Given the description of an element on the screen output the (x, y) to click on. 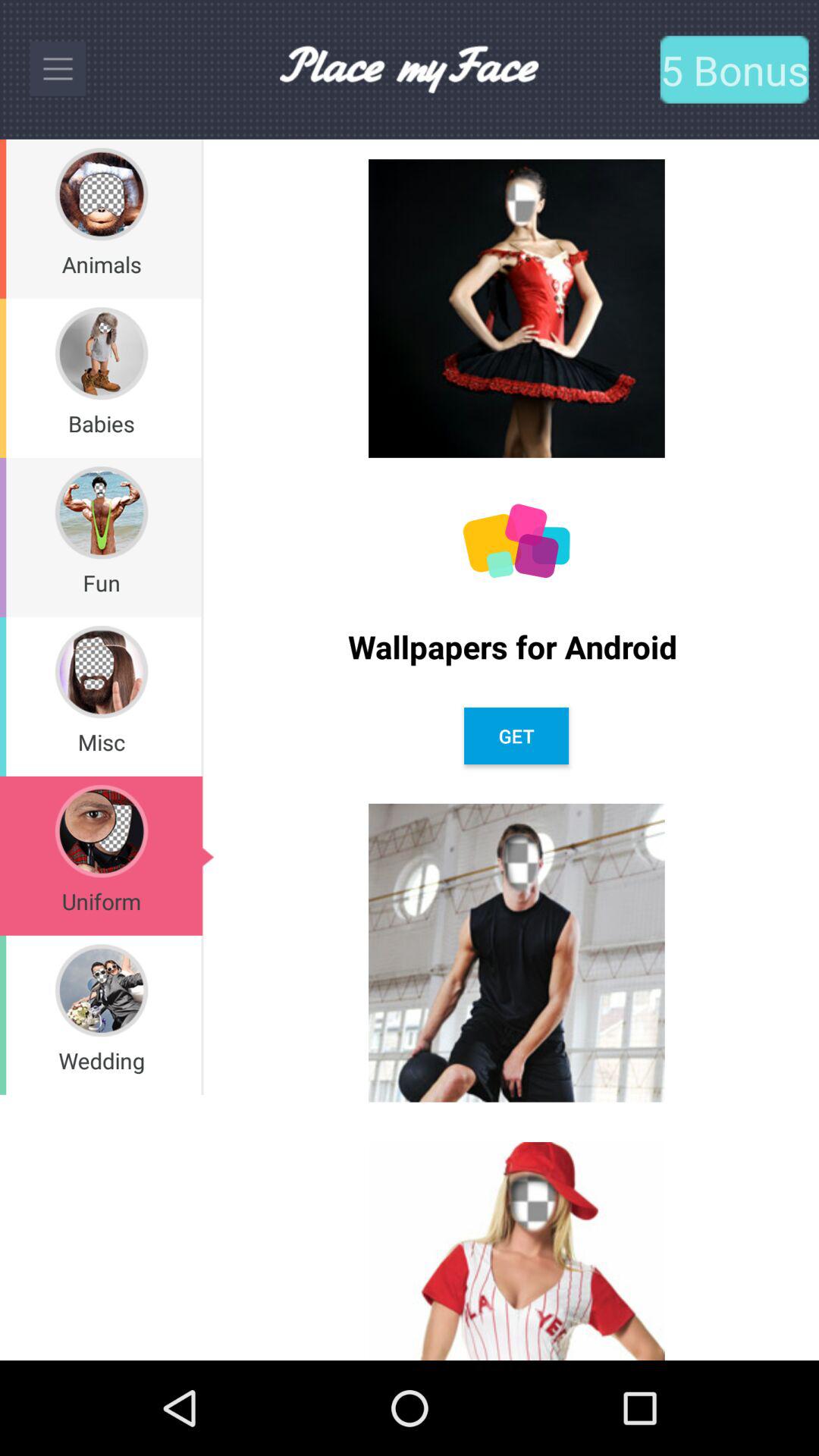
the menu bar (57, 69)
